Given the description of an element on the screen output the (x, y) to click on. 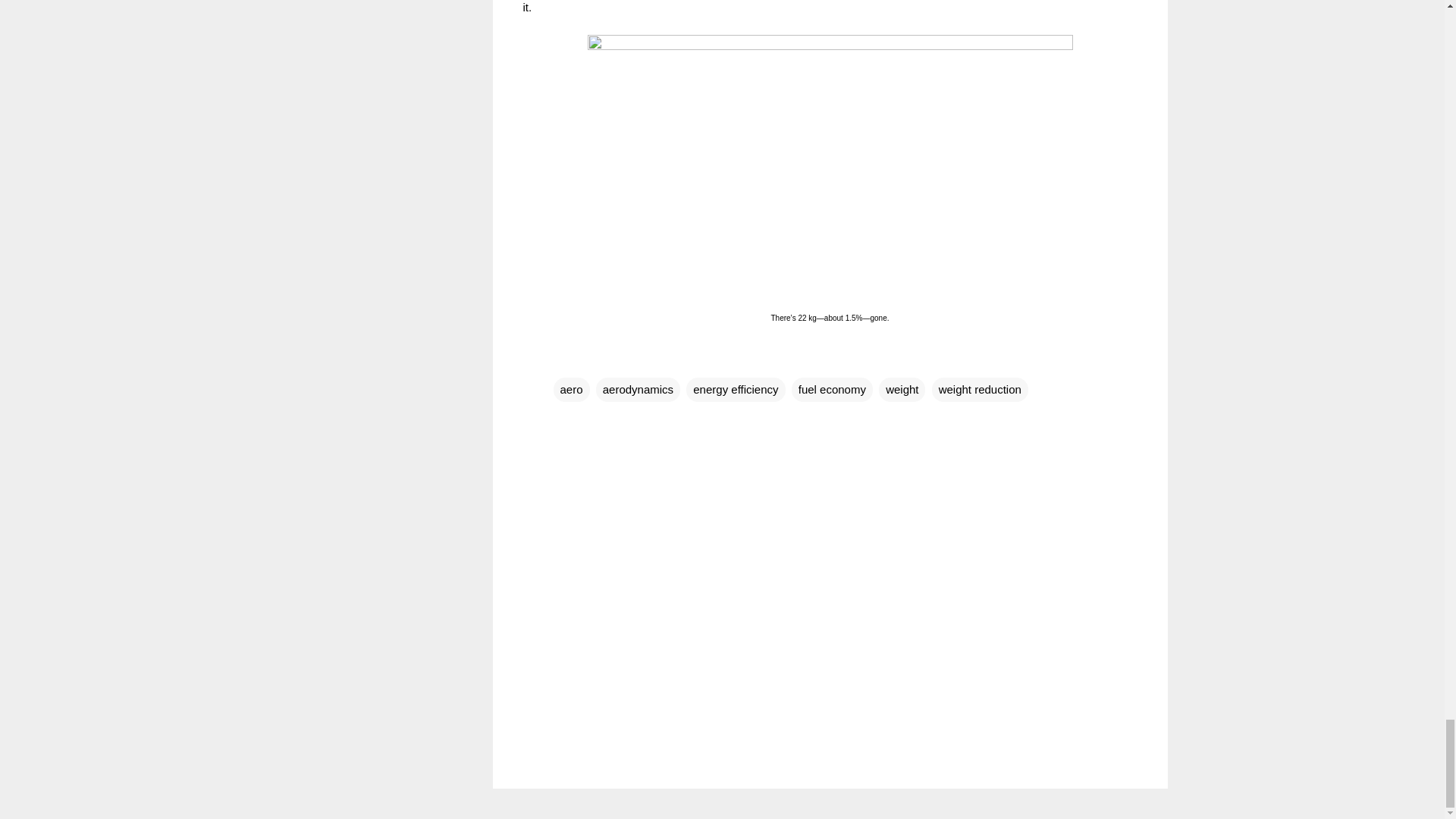
fuel economy (832, 388)
energy efficiency (734, 388)
weight (901, 388)
weight reduction (979, 388)
aerodynamics (637, 388)
aero (571, 388)
